Given the description of an element on the screen output the (x, y) to click on. 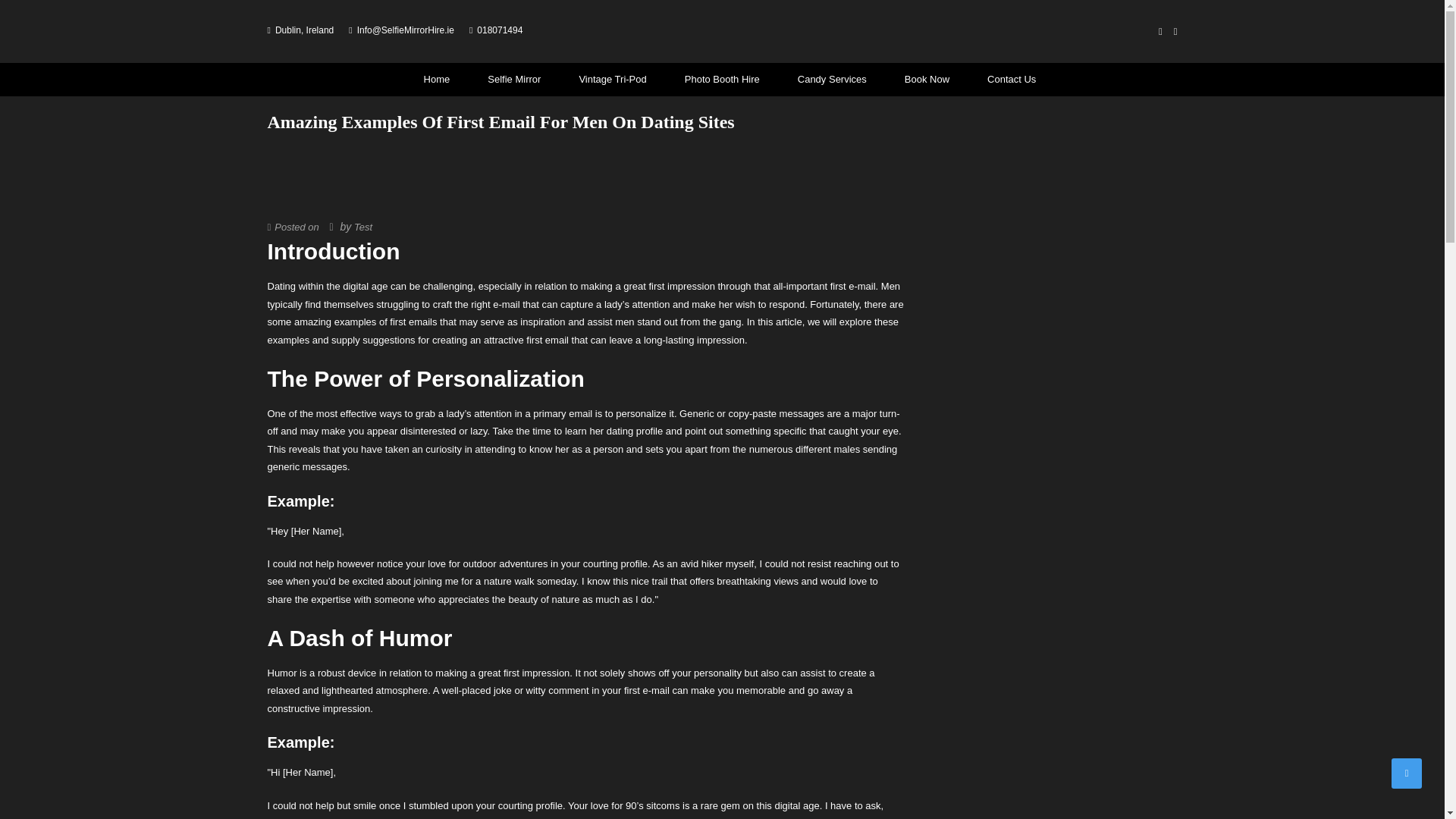
Test (362, 226)
Contact Us (1003, 79)
Vintage Tri-Pod (612, 79)
Selfie Mirror (513, 79)
Book Now (926, 79)
Home (437, 79)
Photo Booth Hire (721, 79)
Candy Services (832, 79)
